Given the description of an element on the screen output the (x, y) to click on. 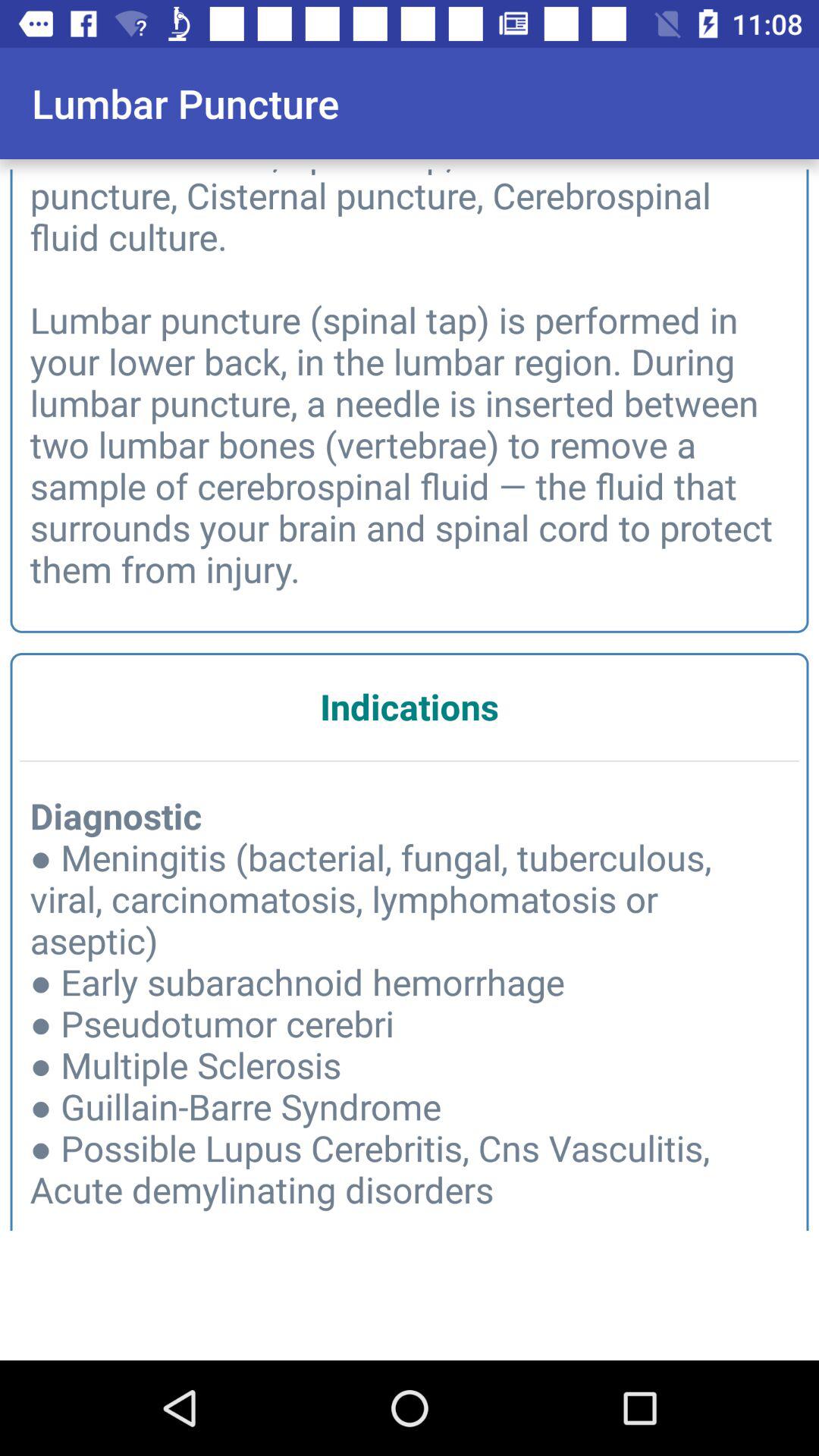
flip to other names spinal item (409, 376)
